Given the description of an element on the screen output the (x, y) to click on. 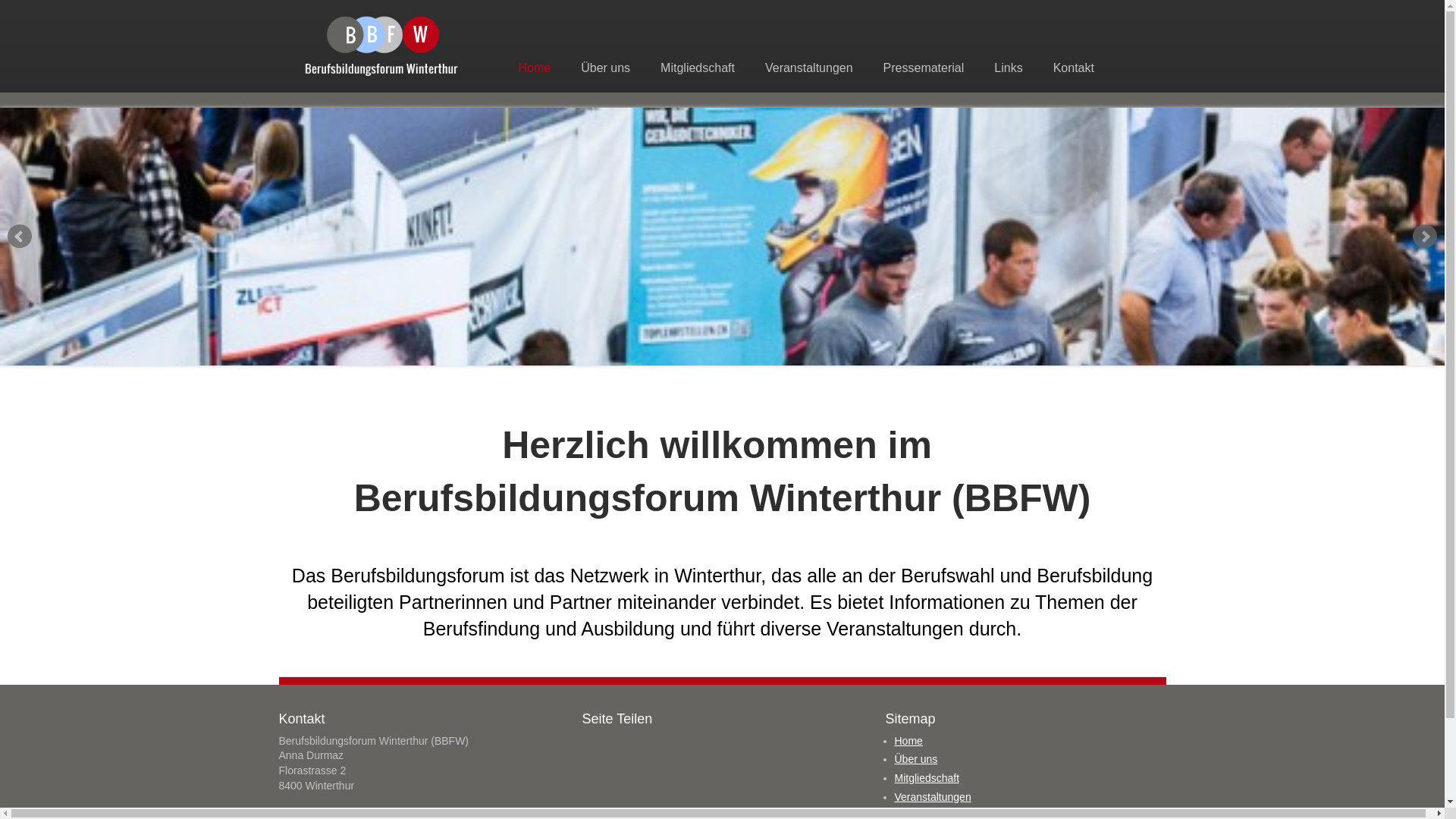
Mitgliedschaft Element type: text (927, 777)
Kontakt Element type: text (1073, 68)
Home Element type: text (908, 740)
Next Element type: text (1424, 236)
Pressematerial Element type: text (923, 68)
Links Element type: text (1007, 68)
Veranstaltungen Element type: text (808, 68)
Home Element type: text (533, 68)
Prev Element type: text (19, 236)
Veranstaltungen Element type: text (932, 796)
Mitgliedschaft Element type: text (697, 68)
